Given the description of an element on the screen output the (x, y) to click on. 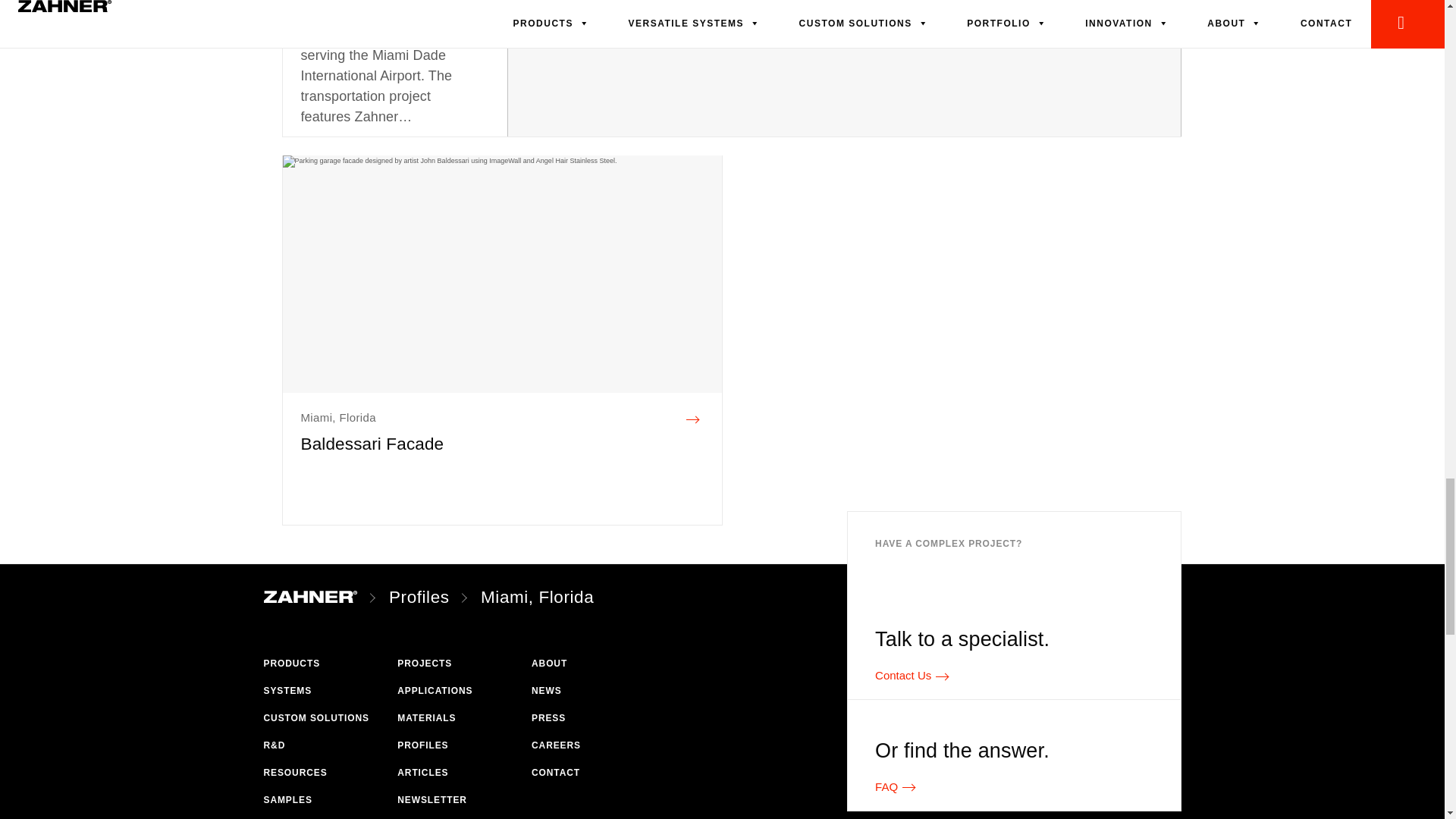
Back to Home (310, 597)
